Given the description of an element on the screen output the (x, y) to click on. 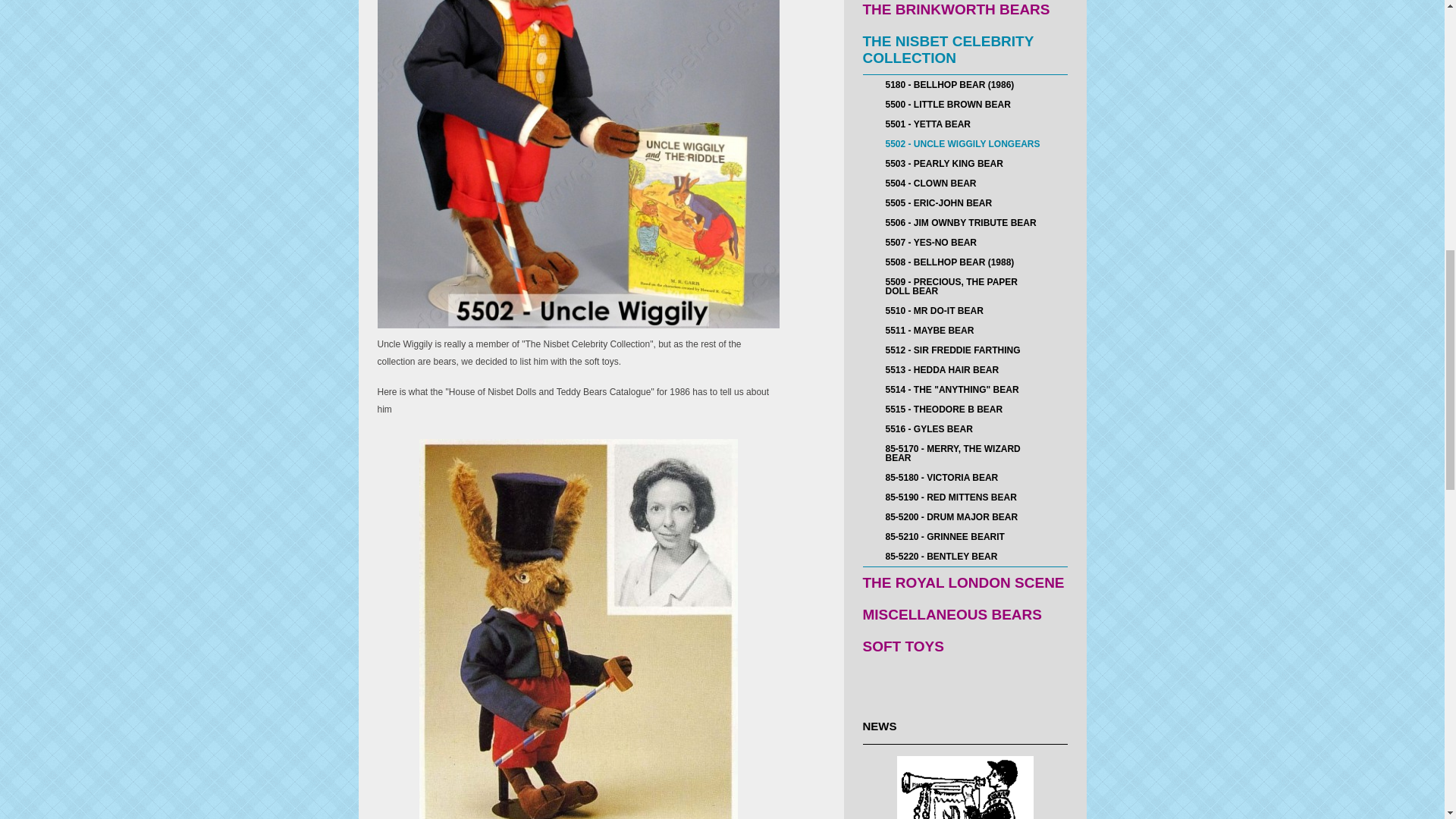
5506 - JIM OWNBY TRIBUTE BEAR (965, 222)
5511 - MAYBE BEAR (965, 330)
5500 - LITTLE BROWN BEAR (965, 104)
5513 - HEDDA HAIR BEAR (965, 370)
THE BRINKWORTH BEARS (965, 12)
5504 - CLOWN BEAR (965, 183)
5503 - PEARLY KING BEAR (965, 163)
5509 - PRECIOUS, THE PAPER DOLL BEAR (965, 286)
5510 - MR DO-IT BEAR (965, 311)
5502 - UNCLE WIGGILY LONGEARS (965, 143)
5507 - YES-NO BEAR (965, 242)
5505 - ERIC-JOHN BEAR (965, 202)
5501 - YETTA BEAR (965, 124)
THE NISBET CELEBRITY COLLECTION (965, 49)
